Given the description of an element on the screen output the (x, y) to click on. 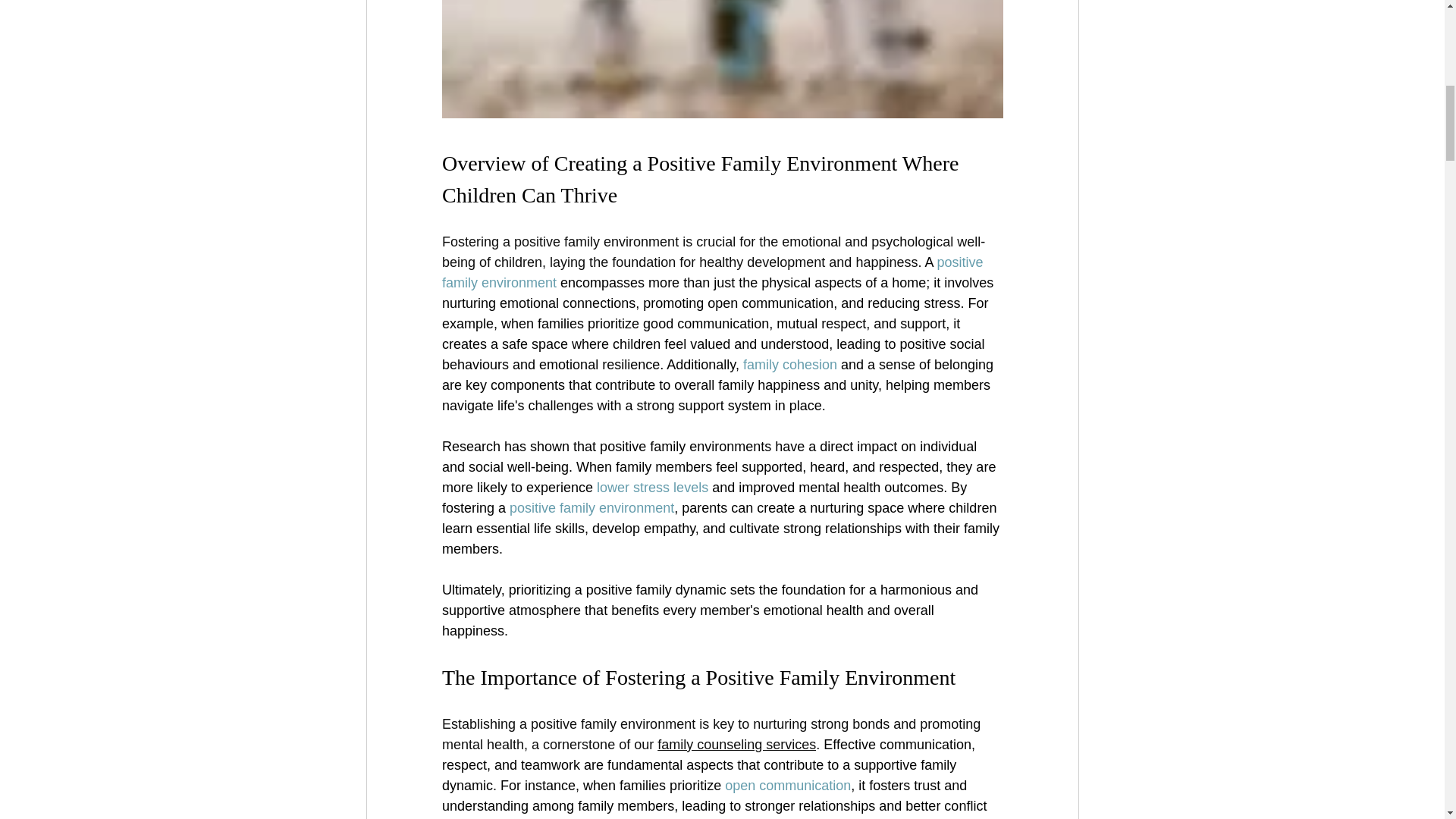
family cohesion (788, 364)
positive family environment (714, 272)
open communication (787, 785)
positive family environment (591, 507)
family counseling services (736, 744)
lower stress levels (651, 487)
